Given the description of an element on the screen output the (x, y) to click on. 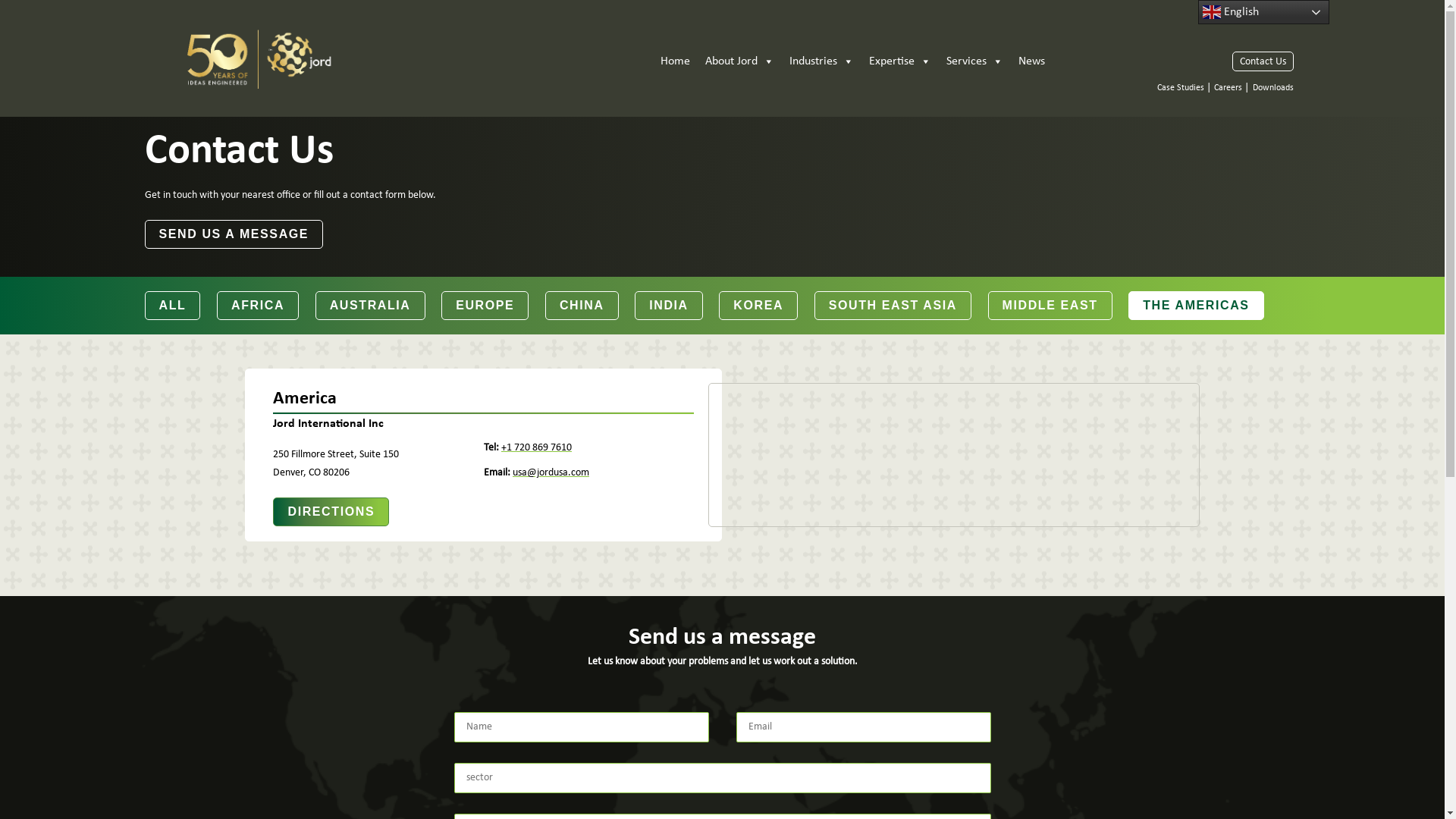
THE AMERICAS Element type: text (1195, 305)
About Jord Element type: text (739, 61)
ALL Element type: text (172, 305)
Careers | Element type: text (1231, 87)
Services Element type: text (974, 61)
EUROPE Element type: text (484, 305)
Home Element type: text (674, 61)
Industries Element type: text (821, 61)
SEND US A MESSAGE Element type: text (233, 233)
Expertise Element type: text (899, 61)
INDIA Element type: text (668, 305)
AFRICA Element type: text (257, 305)
Case Studies | Element type: text (1184, 87)
+1 720 869 7610 Element type: text (536, 447)
usa@jordusa.com Element type: text (550, 472)
MIDDLE EAST Element type: text (1050, 305)
CHINA Element type: text (581, 305)
DIRECTIONS Element type: text (331, 511)
Contact Us Element type: text (1261, 61)
KOREA Element type: text (757, 305)
SOUTH EAST ASIA Element type: text (892, 305)
Downloads Element type: text (1272, 87)
AUSTRALIA Element type: text (370, 305)
News Element type: text (1031, 61)
English Element type: text (1263, 12)
